Given the description of an element on the screen output the (x, y) to click on. 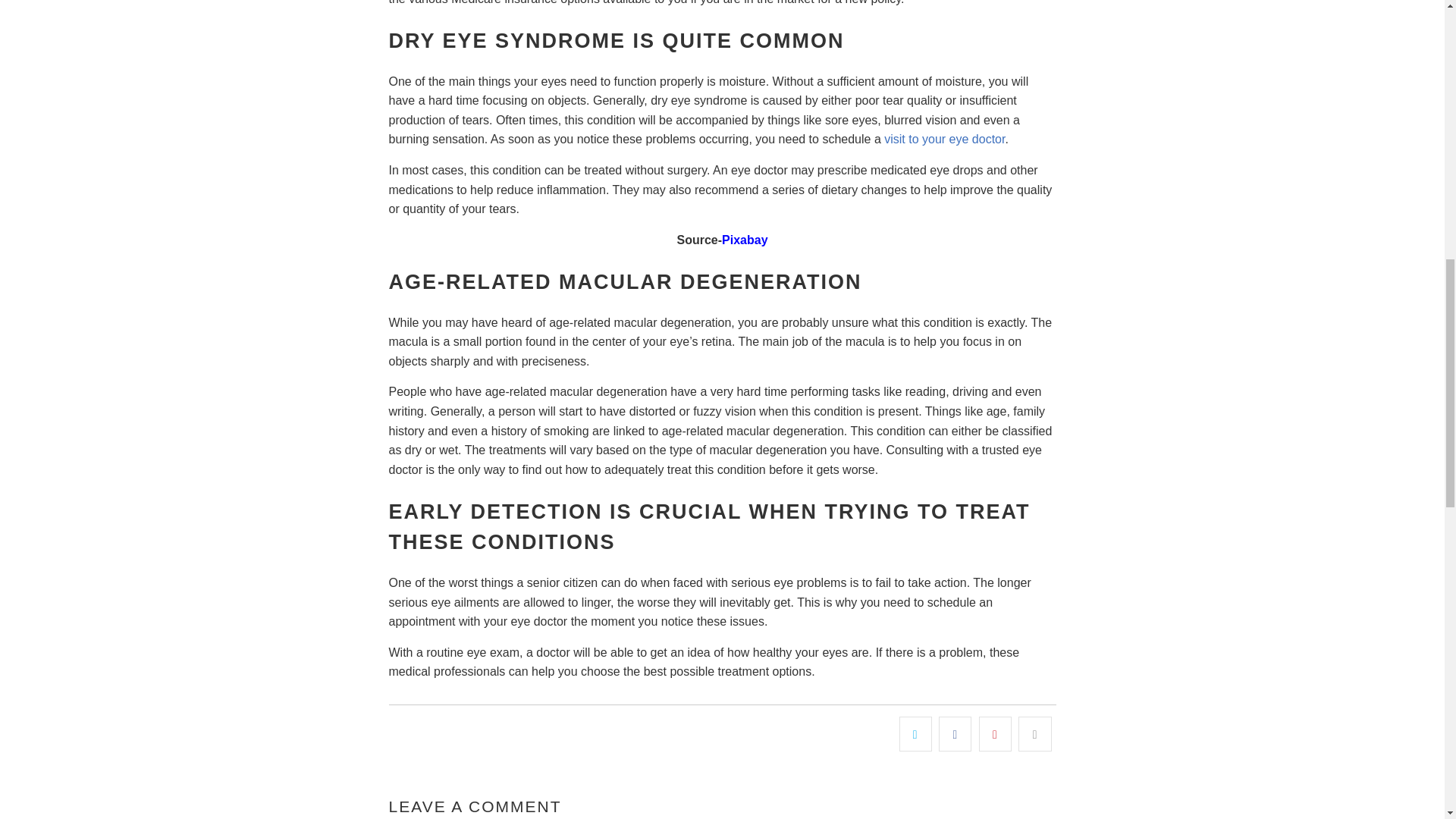
Share this on Twitter (915, 733)
Share this on Facebook (955, 733)
